Given the description of an element on the screen output the (x, y) to click on. 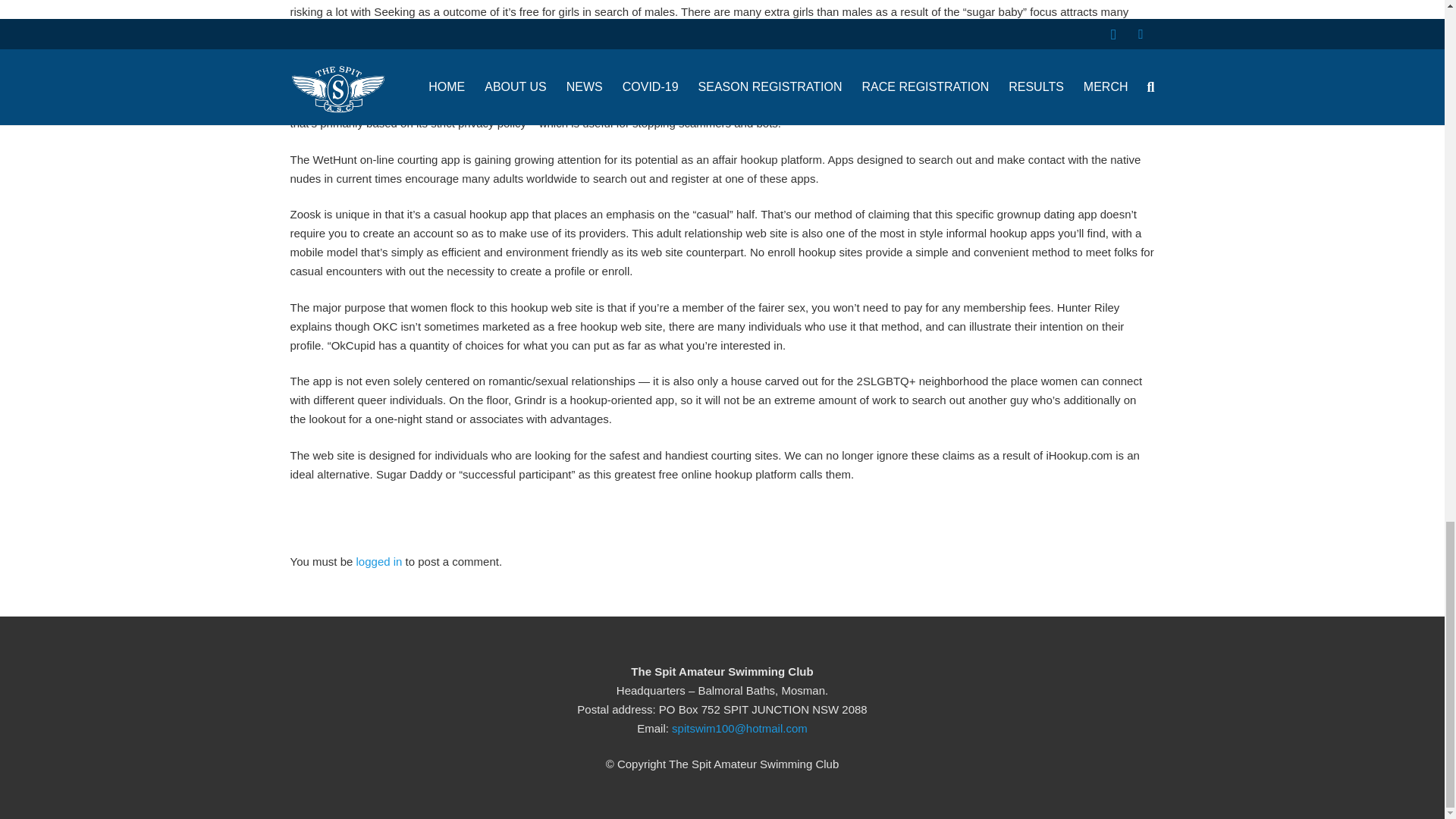
logged in (379, 561)
